Given the description of an element on the screen output the (x, y) to click on. 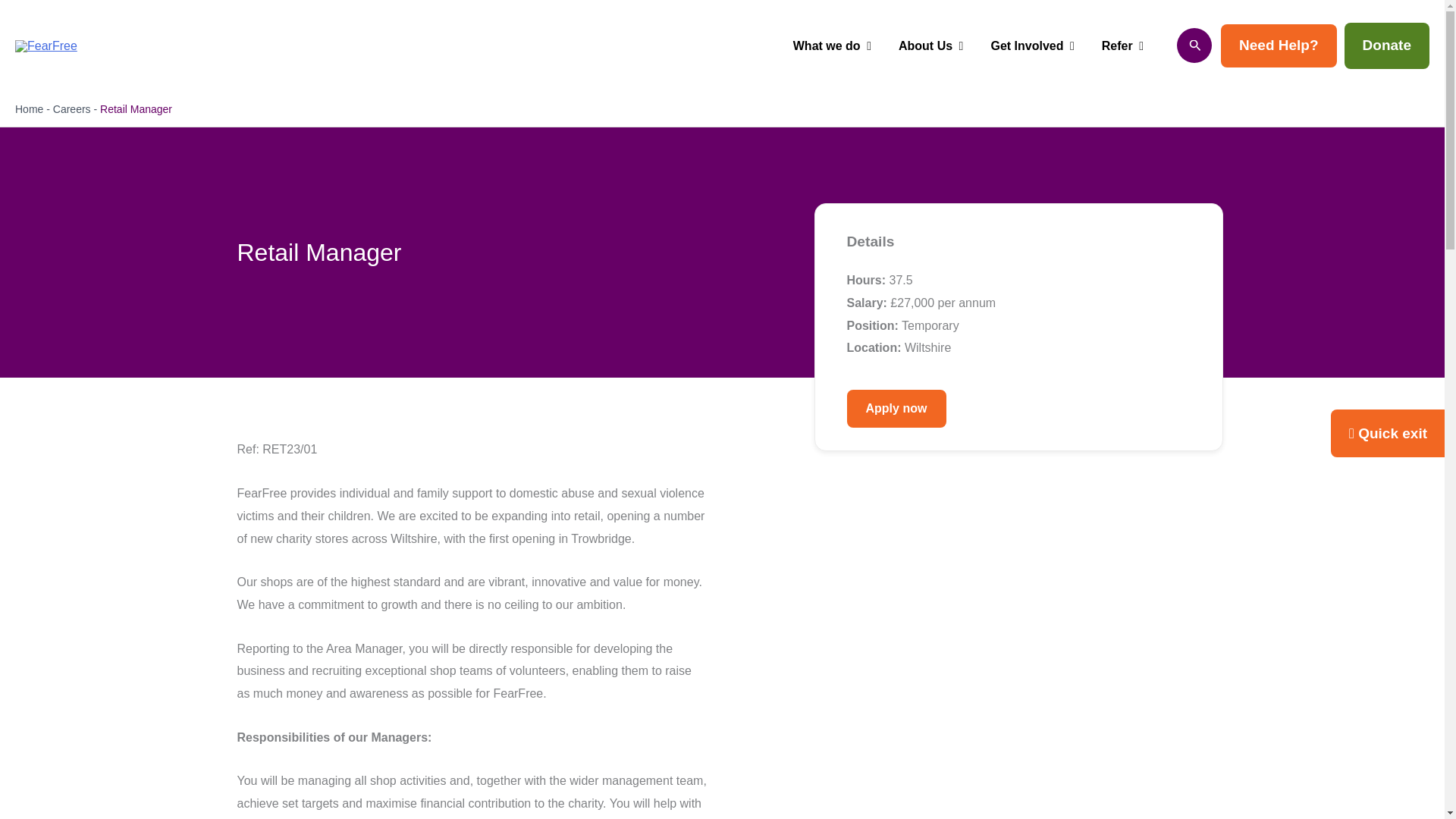
About Us (930, 45)
Search (1193, 45)
Refer (1122, 45)
Get Involved (1031, 45)
What we do (831, 45)
